Given the description of an element on the screen output the (x, y) to click on. 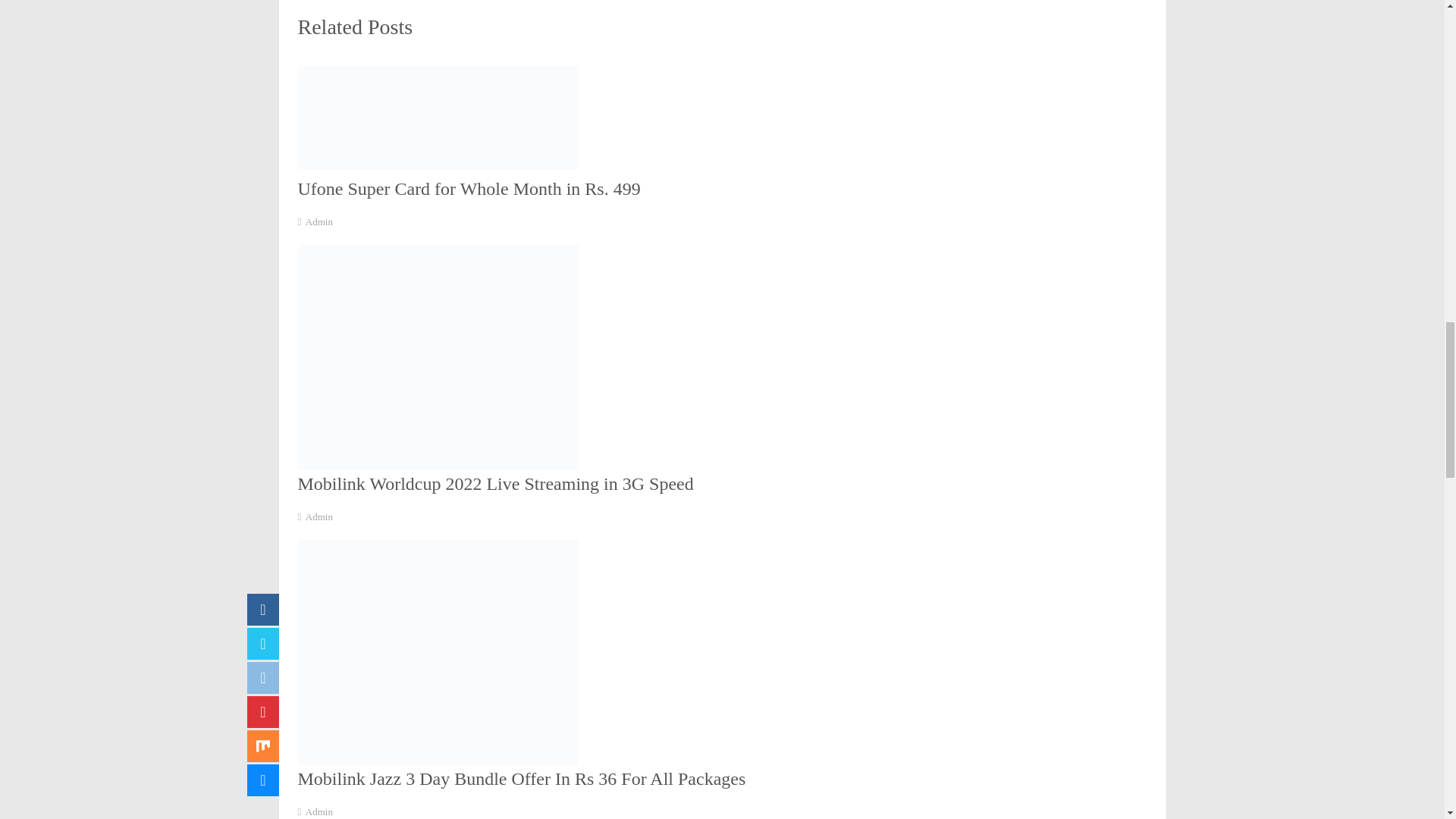
Mobilink Jazz 3 Day Bundle Offer In Rs 36 For All Packages (521, 778)
Ufone Super Card for Whole Month in Rs. 499 (468, 189)
Admin (319, 516)
Ufone Super Card for Whole Month in Rs. 499 (581, 120)
Mobilink Worldcup 2022 Live Streaming in 3G Speed (495, 483)
Posts by admin (319, 221)
Mobilink Worldcup 2022 Live Streaming in 3G Speed (495, 483)
Ufone Super Card for Whole Month in Rs. 499 (437, 116)
Mobilink Worldcup 2022 Live Streaming in 3G Speed (437, 357)
Admin (319, 221)
Posts by admin (319, 516)
Ufone Super Card for Whole Month in Rs. 499 (468, 189)
